Given the description of an element on the screen output the (x, y) to click on. 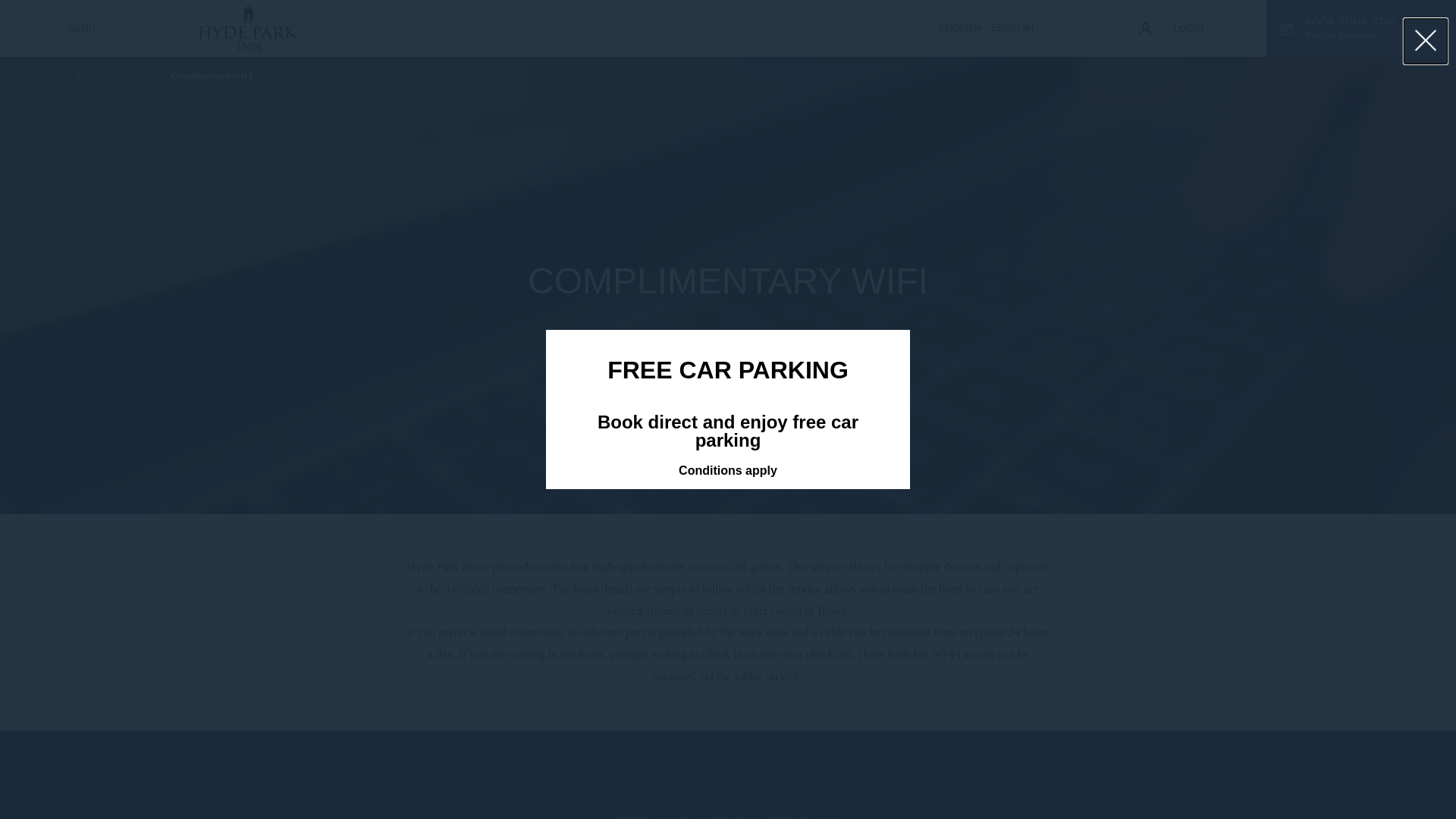
MAZZARO RESTAURANT Element type: text (883, 462)
OUR UNIQUE ROOMS Element type: text (874, 329)
FACILITIES AND SERVICES Element type: text (891, 382)
Complimentary WIFI Element type: text (209, 76)
enquiries@hydeparkinn.com.au Element type: text (360, 544)
LOGIN Element type: text (1171, 28)
OUR LOCATION Element type: text (855, 355)
Facilities and Services Element type: text (110, 76)
GROUP ACCOMMODATION Element type: text (890, 436)
MENU Element type: text (72, 28)
Homepage Element type: text (35, 76)
HOTEL & GUEST INFORMATION Element type: text (905, 489)
PHOTO GALLERY Element type: text (861, 408)
HOME Element type: text (825, 302)
  Element type: text (1401, 53)
